Given the description of an element on the screen output the (x, y) to click on. 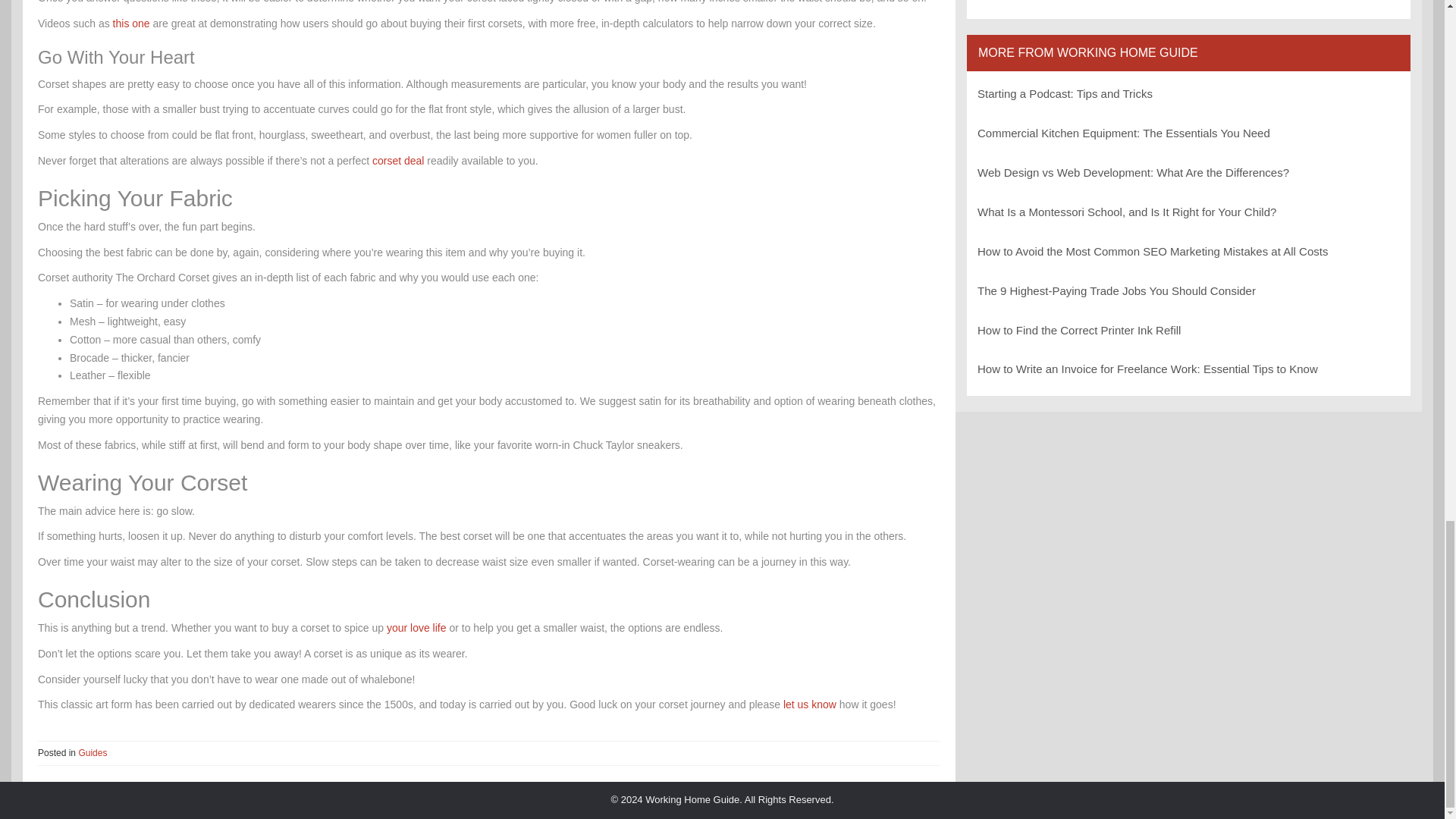
let us know (809, 704)
your love life (416, 627)
Guides (92, 752)
corset deal (397, 160)
this one (131, 23)
